Given the description of an element on the screen output the (x, y) to click on. 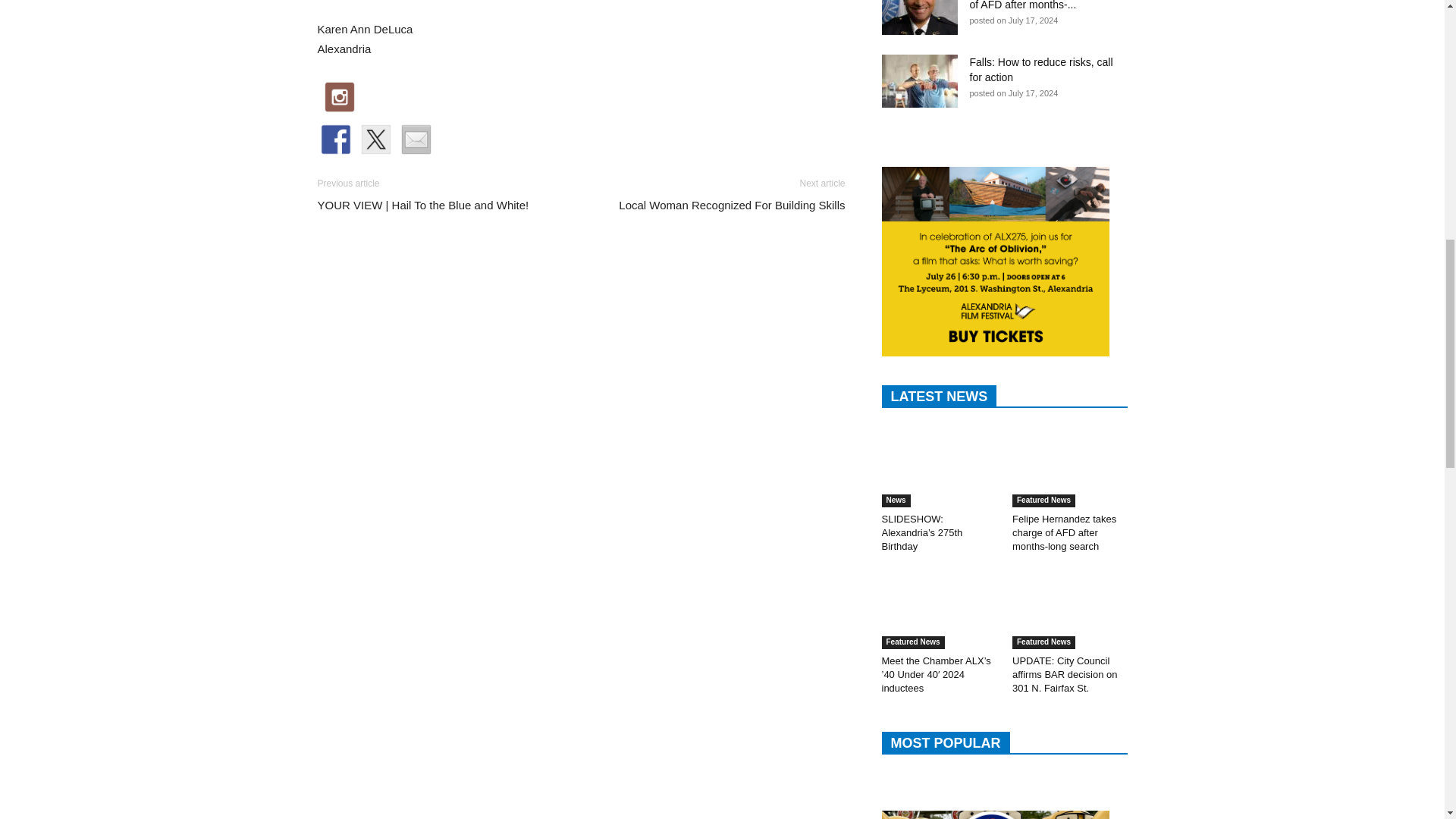
Follow us on instagram (342, 100)
Share on Facebook (338, 143)
